Given the description of an element on the screen output the (x, y) to click on. 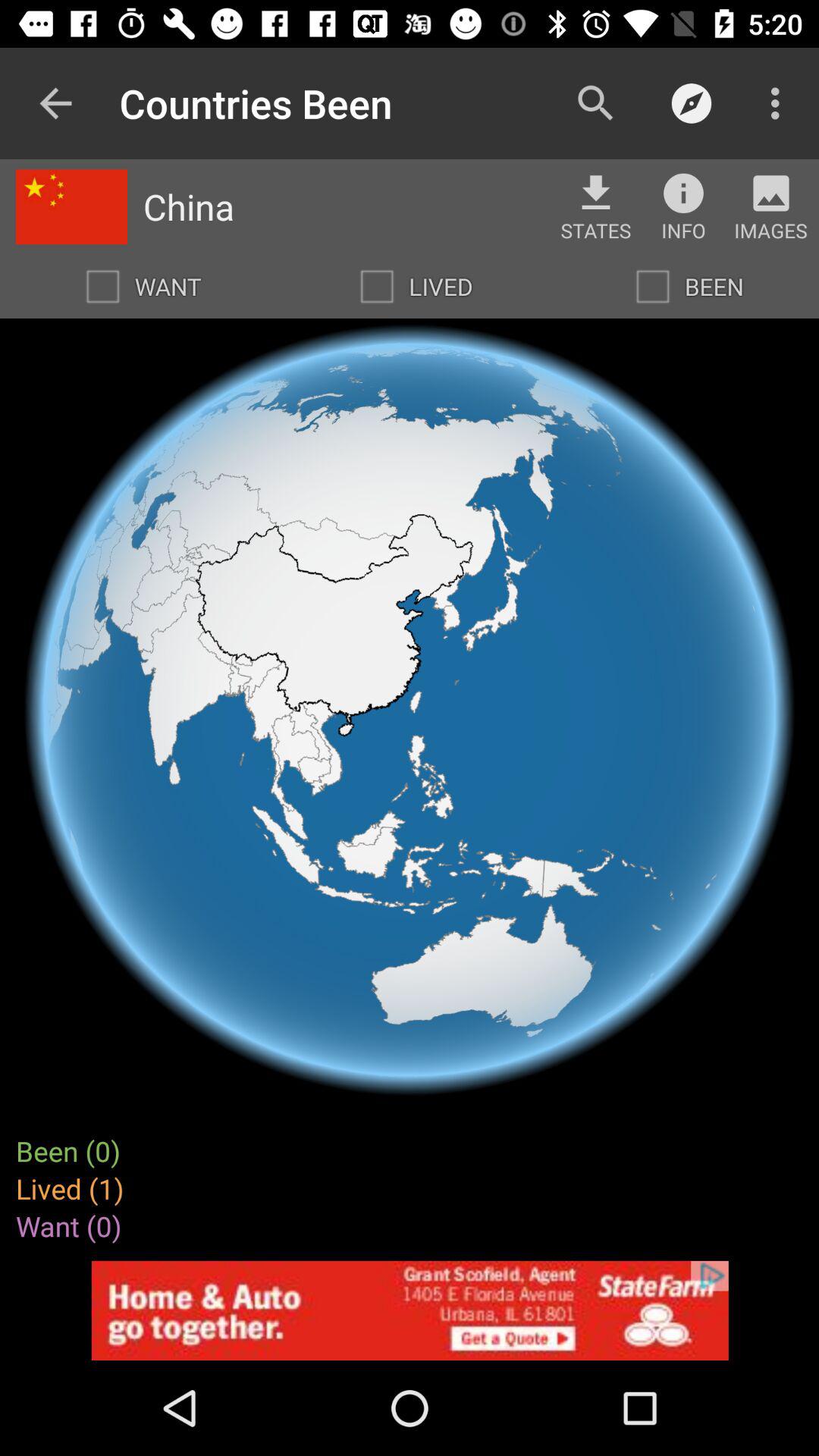
download states (595, 193)
